Given the description of an element on the screen output the (x, y) to click on. 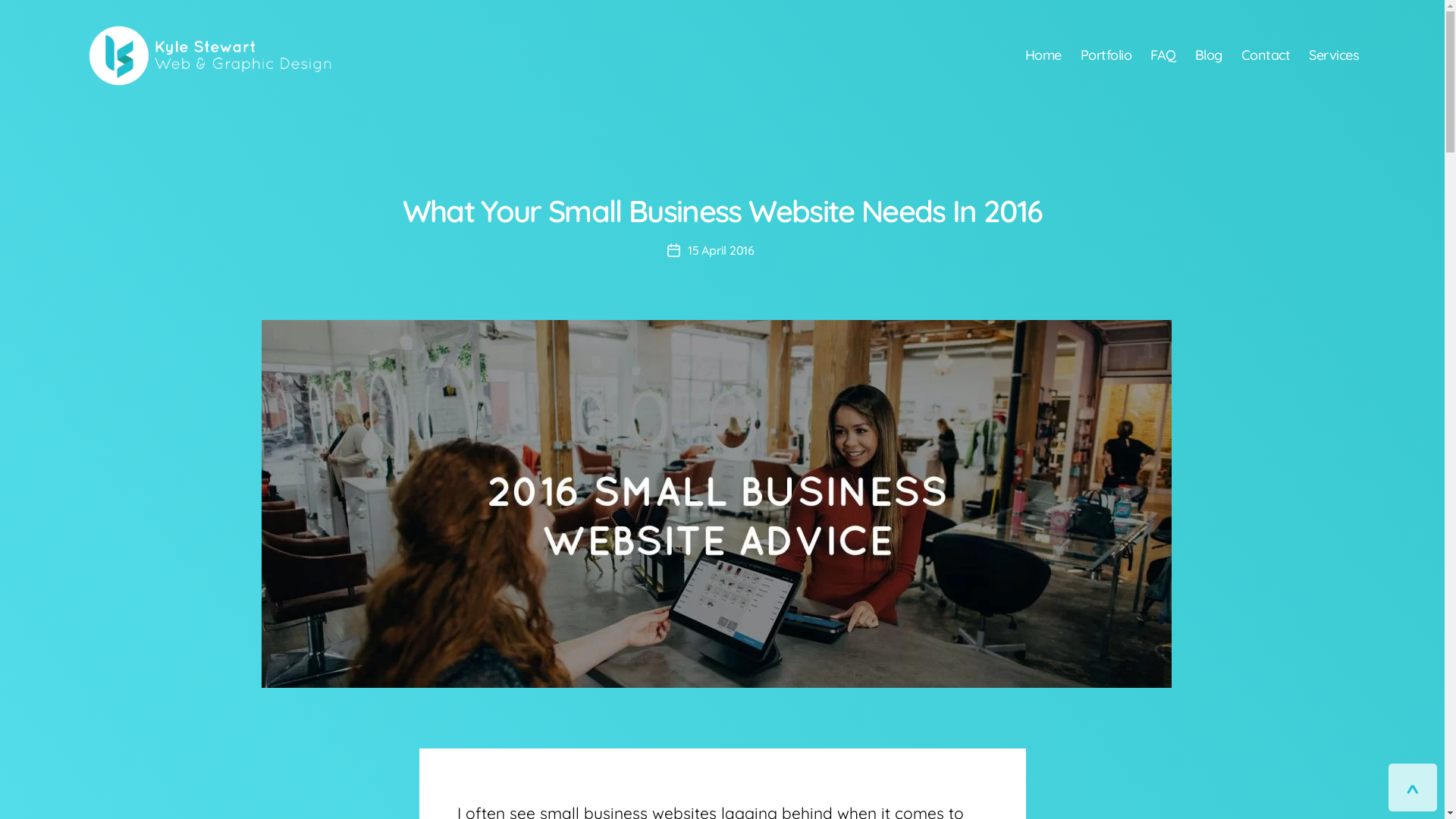
Portfolio Element type: text (1106, 55)
Home Element type: text (1043, 55)
Services Element type: text (1333, 55)
15 April 2016 Element type: text (720, 249)
FAQ Element type: text (1163, 55)
Blog Element type: text (1208, 55)
^ Element type: text (1412, 787)
Contact Element type: text (1265, 55)
